Given the description of an element on the screen output the (x, y) to click on. 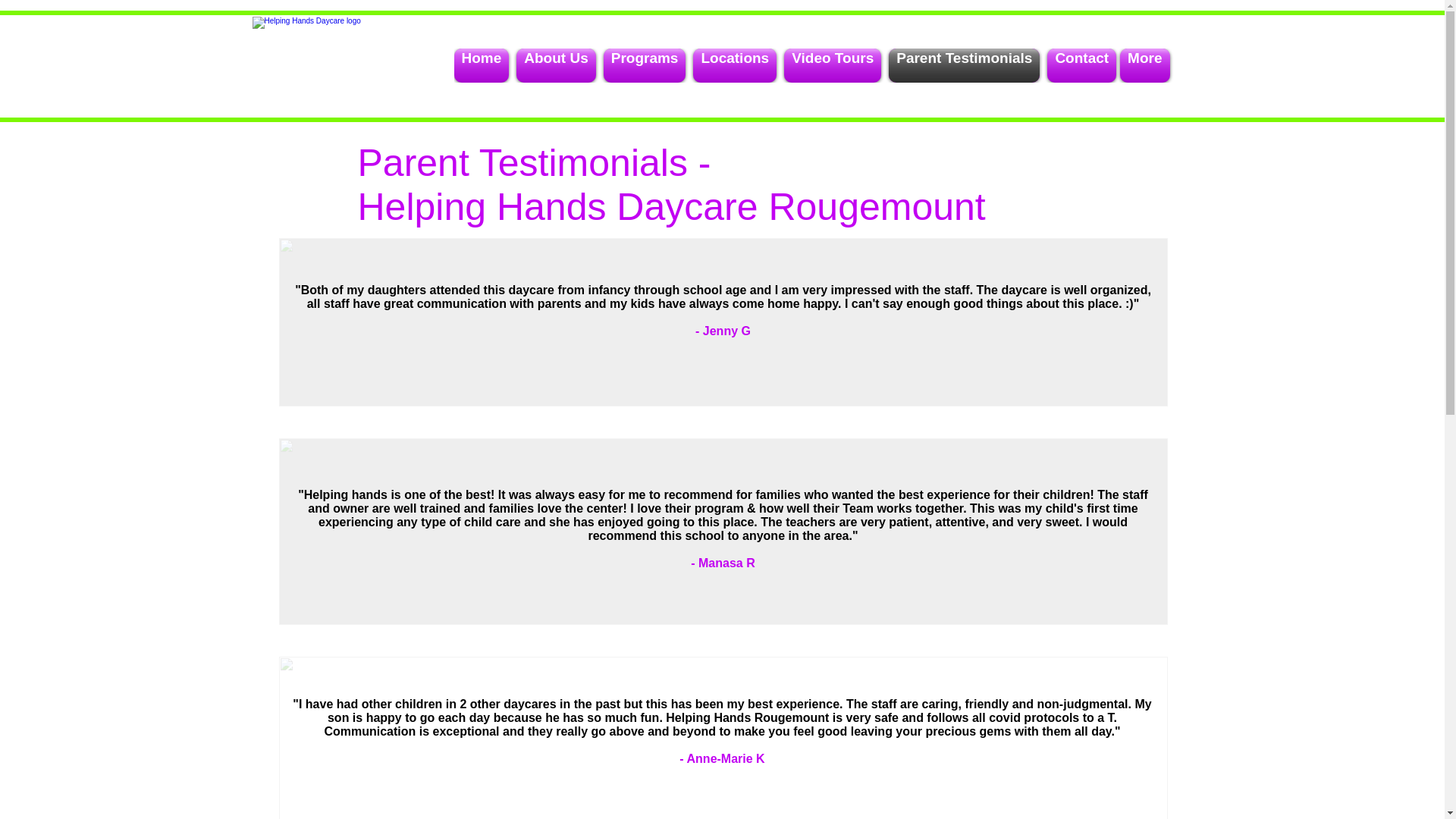
Contact (1079, 65)
Parent Testimonials (964, 65)
Locations (734, 65)
Home (482, 65)
Programs (644, 65)
Video Tours (832, 65)
About Us (555, 65)
